Given the description of an element on the screen output the (x, y) to click on. 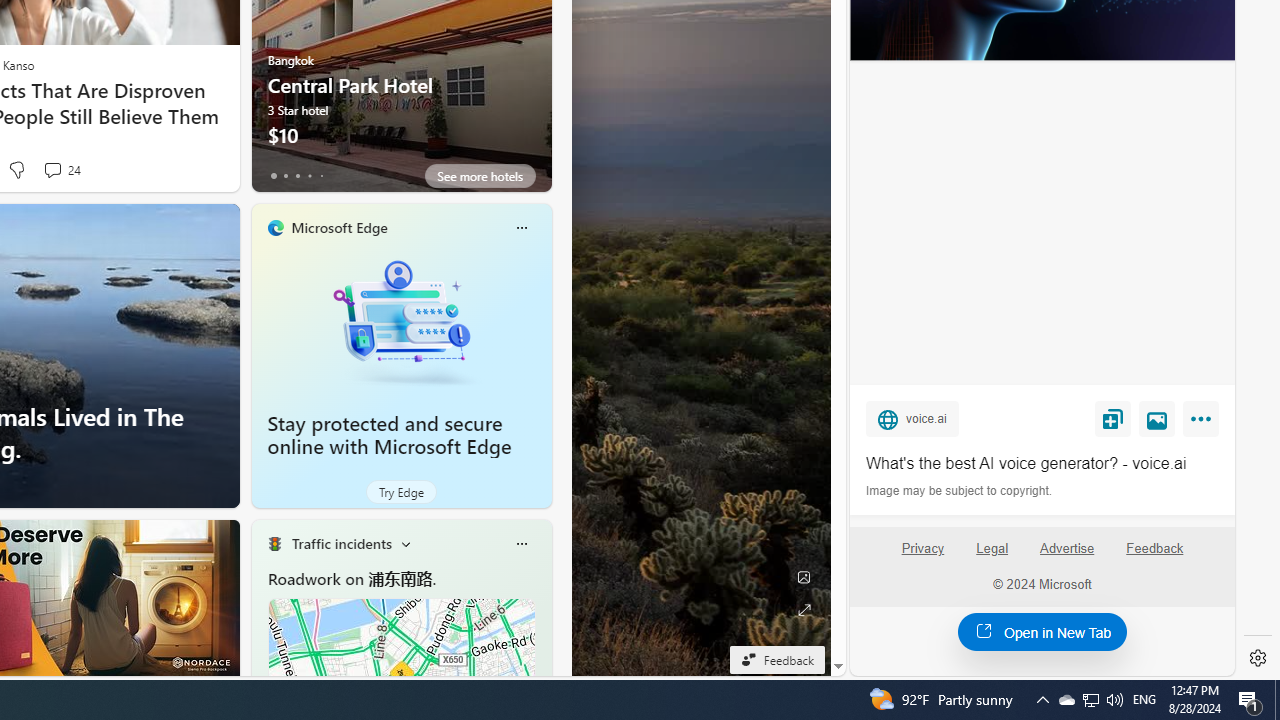
Image may be subject to copyright. (959, 490)
tab-2 (297, 175)
tab-3 (309, 175)
Class: icon-img (521, 543)
tab-1 (285, 175)
More (1204, 422)
Change scenarios (405, 543)
Privacy (922, 547)
tab-0 (273, 175)
Open in New Tab (1042, 631)
View image (1157, 419)
Privacy (922, 557)
Edit Background (803, 577)
